Given the description of an element on the screen output the (x, y) to click on. 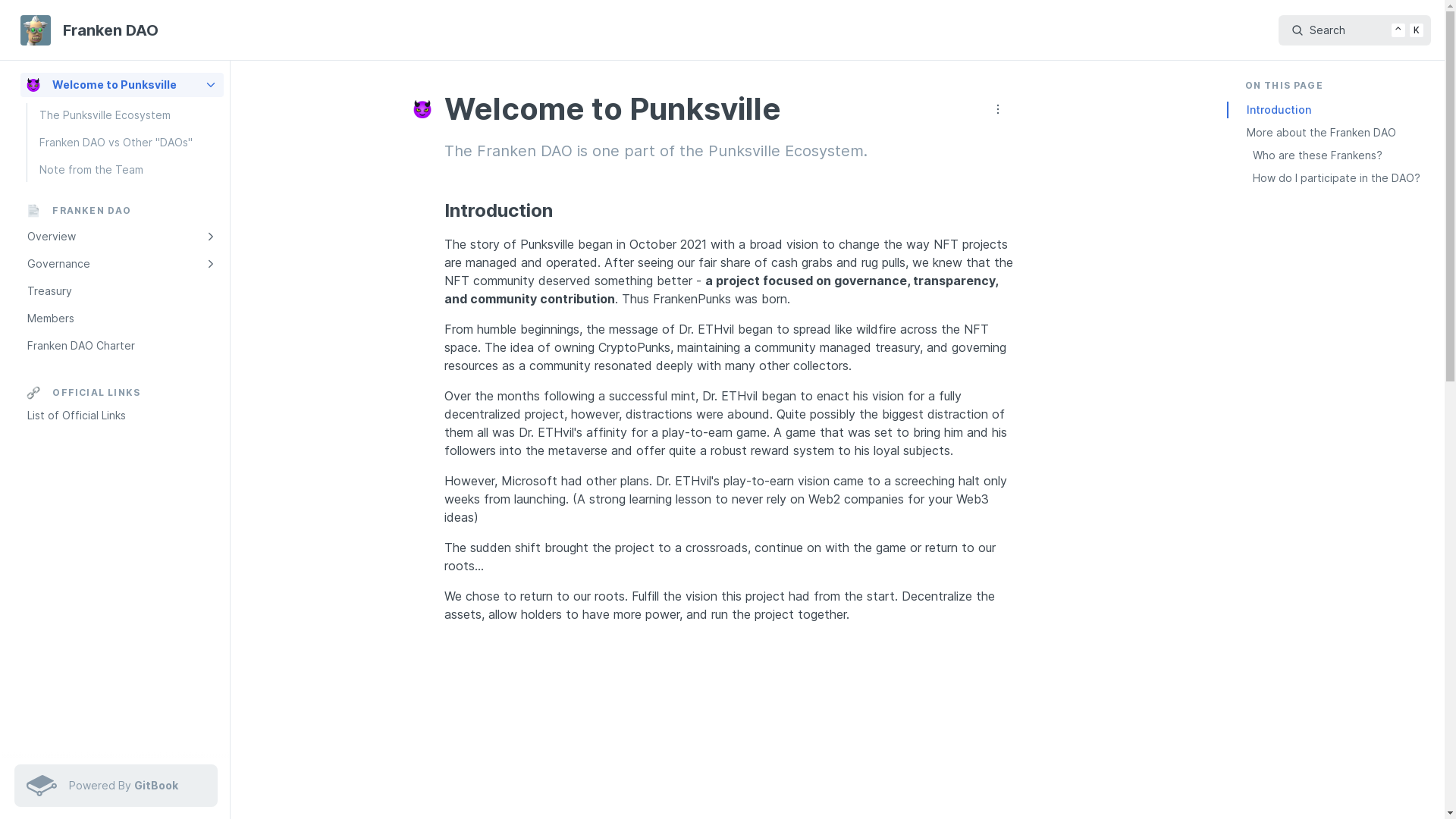
List of Official Links Element type: text (120, 415)
Franken DAO Element type: text (91, 30)
Treasury Element type: text (120, 291)
Powered By GitBook Element type: text (114, 785)
Governance Element type: text (120, 263)
Franken DAO vs Other "DAOs" Element type: text (126, 142)
Members Element type: text (120, 318)
The Punksville Ecosystem Element type: text (126, 115)
Franken DAO Charter Element type: text (120, 345)
Overview Element type: text (120, 236)
Note from the Team Element type: text (126, 169)
